Given the description of an element on the screen output the (x, y) to click on. 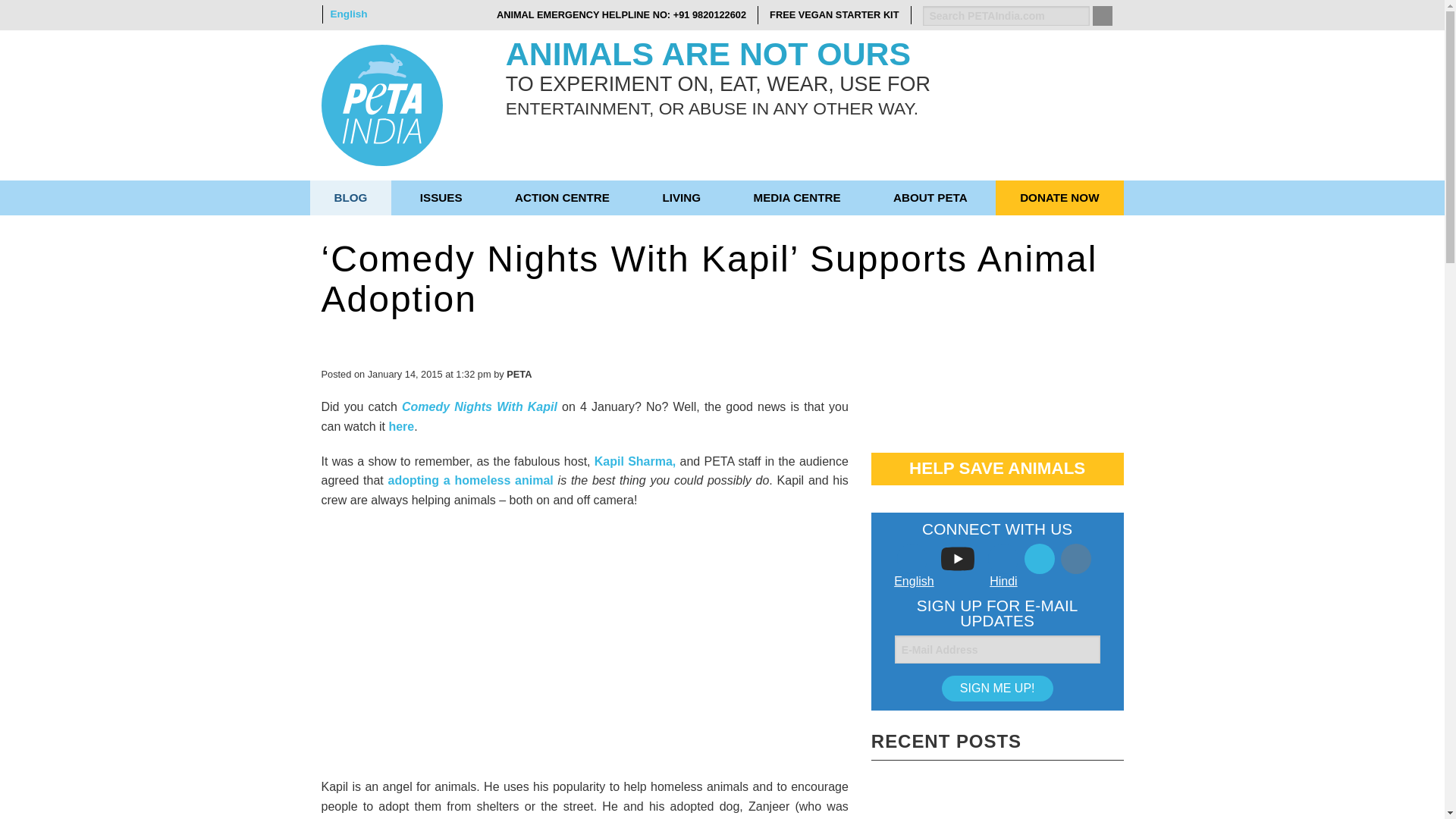
here (400, 426)
FREE VEGAN STARTER KIT (834, 14)
BLOG (349, 197)
Sign Me Up! (997, 688)
Comedy Nights With Kapil (479, 406)
Kapil Sharma, (635, 461)
CRUELTY-FREE PRODUCTS (1033, 232)
JOB OPENINGS (566, 232)
ISSUES (441, 197)
Submit (1102, 15)
COMPANION ANIMALS (783, 267)
ANIMALS USED FOR FOOD (395, 232)
CONTACT PETA (1062, 232)
WILDLIFE (1075, 267)
